Given the description of an element on the screen output the (x, y) to click on. 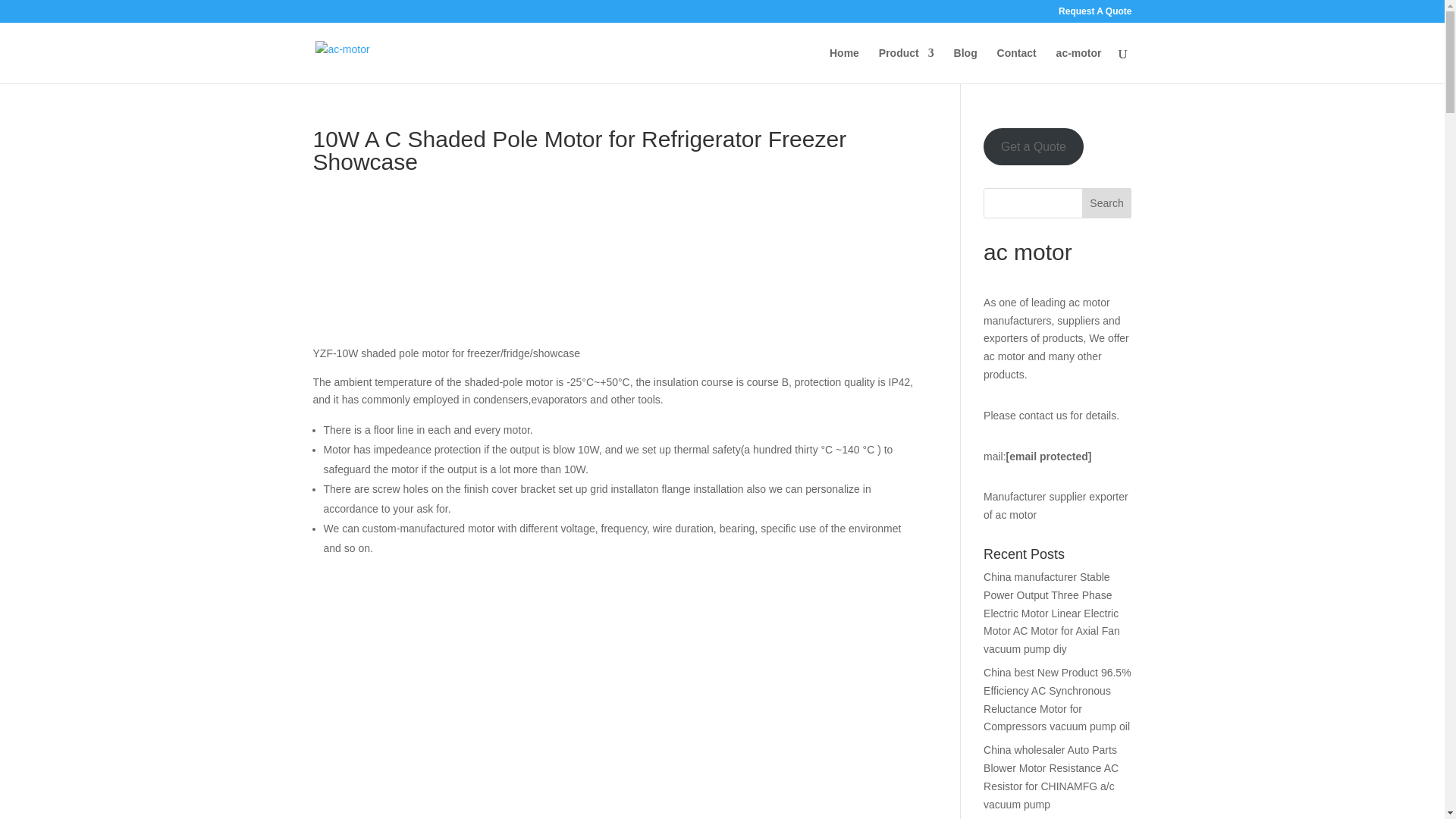
Get a Quote (1033, 146)
Search (1106, 203)
Request A Quote (1094, 14)
ac-motor (1079, 65)
Product (906, 65)
Contact (1016, 65)
Search (1106, 203)
